Given the description of an element on the screen output the (x, y) to click on. 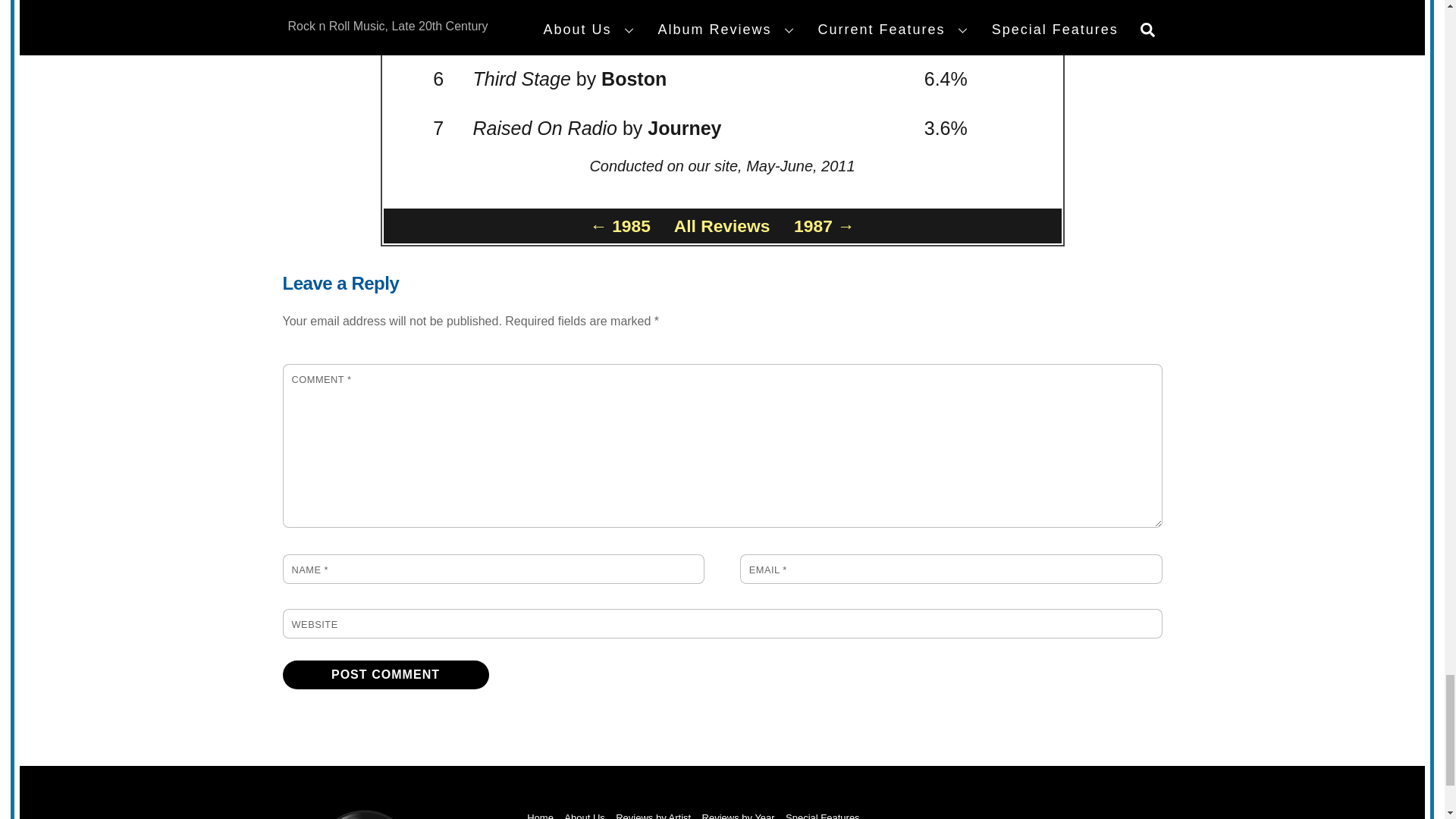
Album Reviews Listed by Year Released (737, 815)
Post Comment (384, 675)
Album Reviews Listed by Artist Name (652, 815)
